Given the description of an element on the screen output the (x, y) to click on. 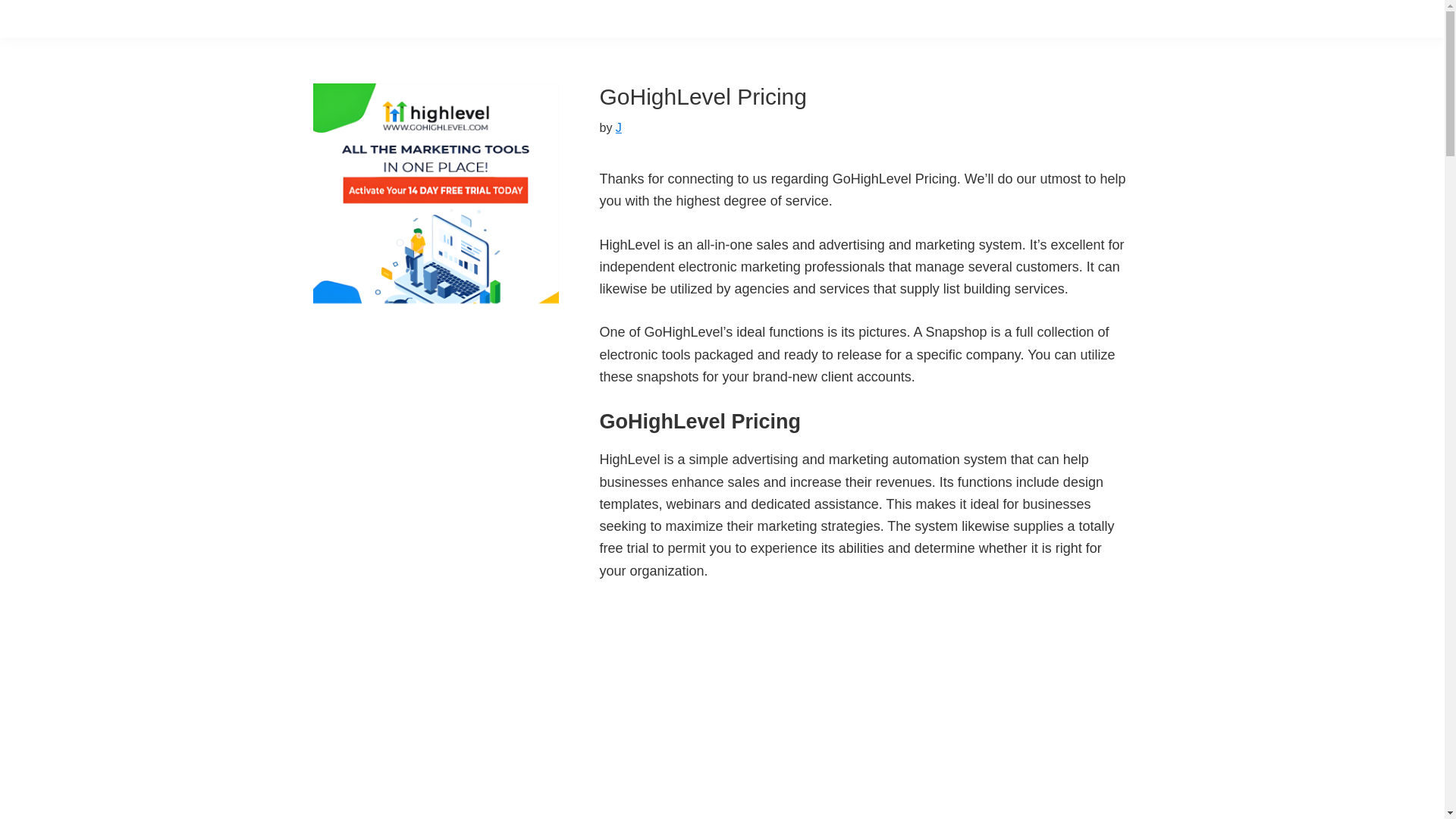
Welcome To HighLevel (788, 709)
